Given the description of an element on the screen output the (x, y) to click on. 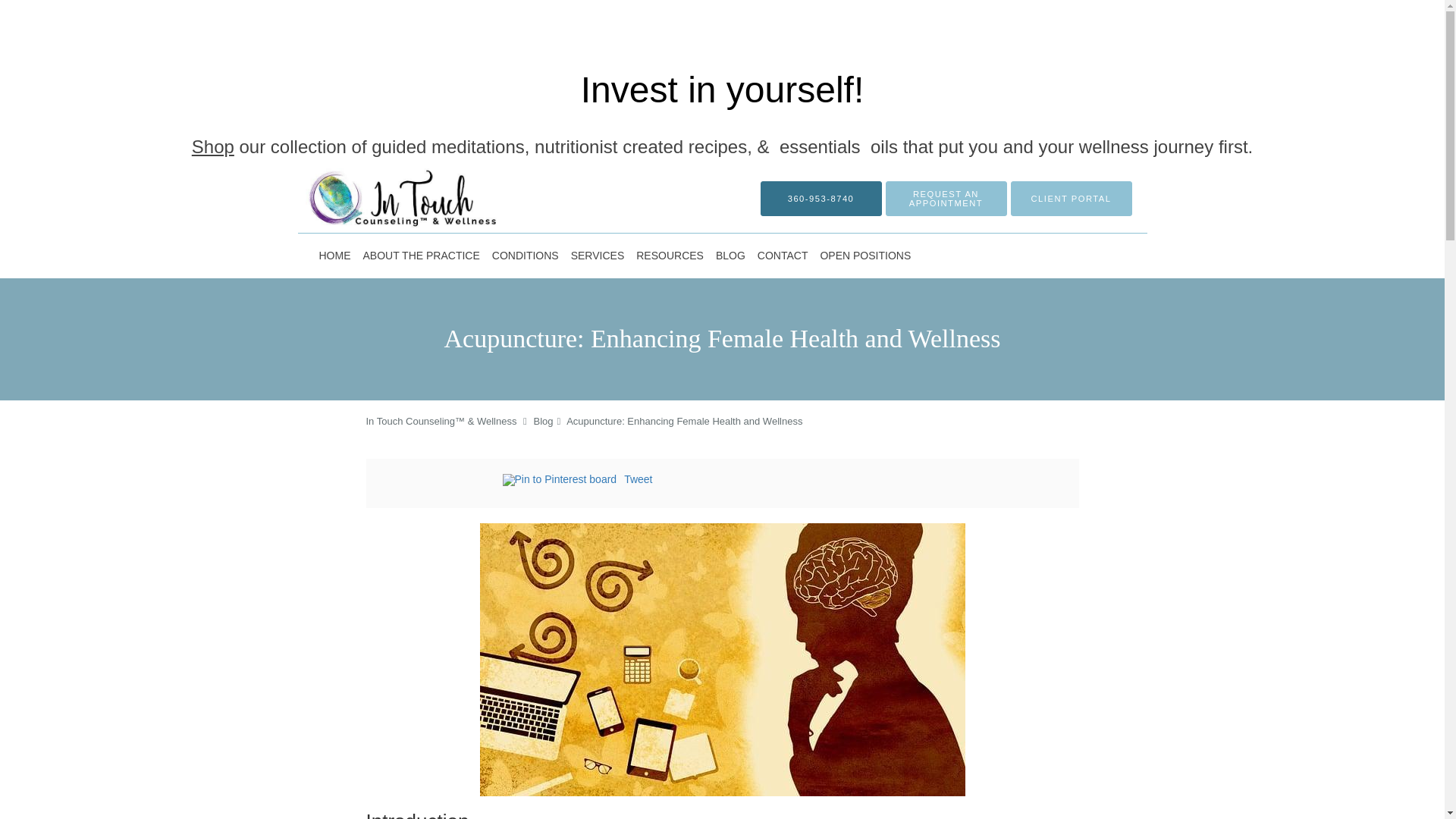
SERVICES (597, 255)
Shop (213, 146)
RESOURCES (670, 255)
CLIENT PORTAL (1070, 198)
HOME (334, 255)
Facebook social button (441, 481)
360-953-8740 (820, 198)
ABOUT THE PRACTICE (420, 255)
BLOG (730, 255)
OPEN POSITIONS (865, 255)
REQUEST AN APPOINTMENT (946, 198)
CONTACT (782, 255)
CONDITIONS (525, 255)
